Given the description of an element on the screen output the (x, y) to click on. 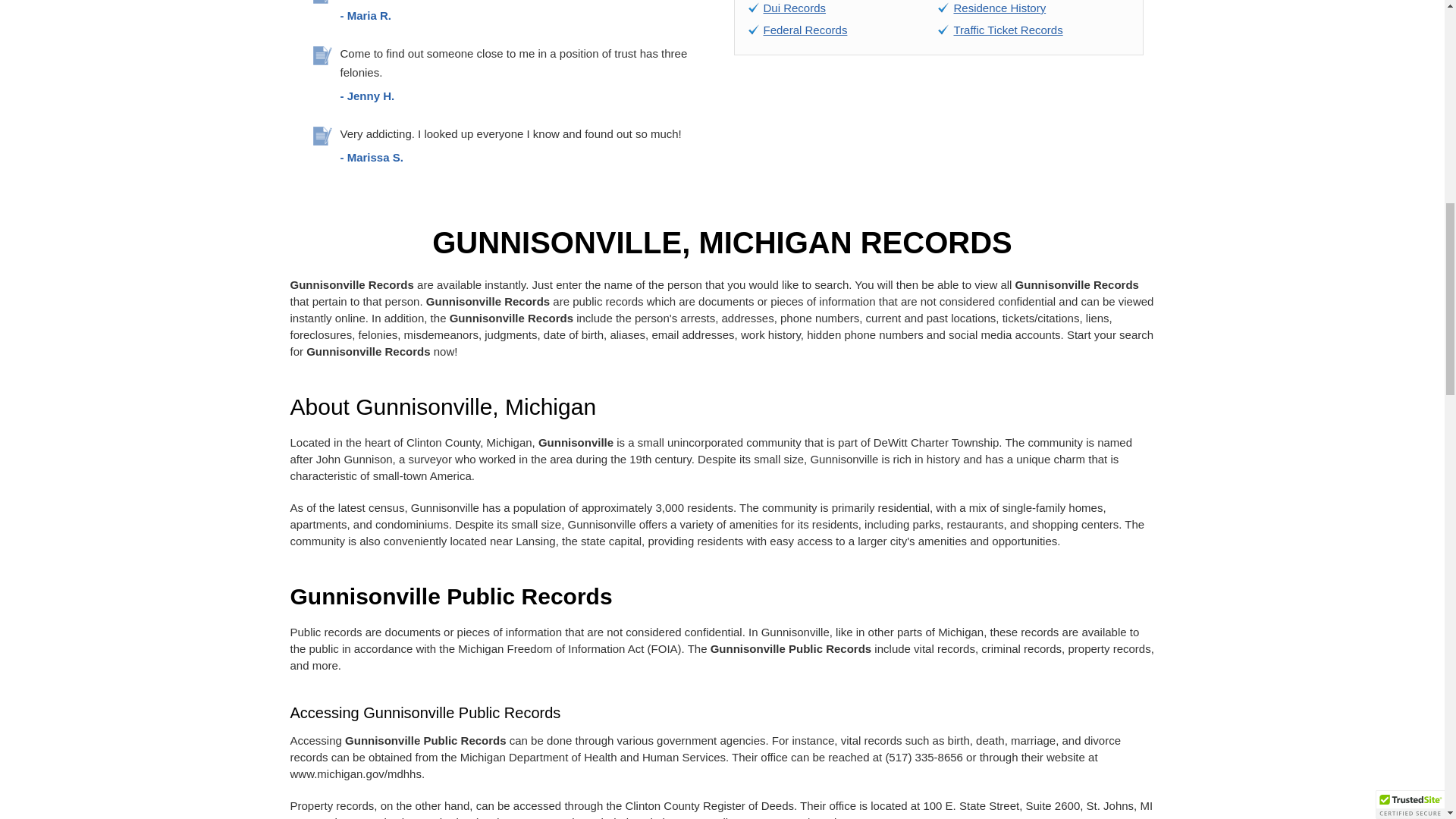
Federal Records (804, 29)
Dui Records (793, 7)
